Given the description of an element on the screen output the (x, y) to click on. 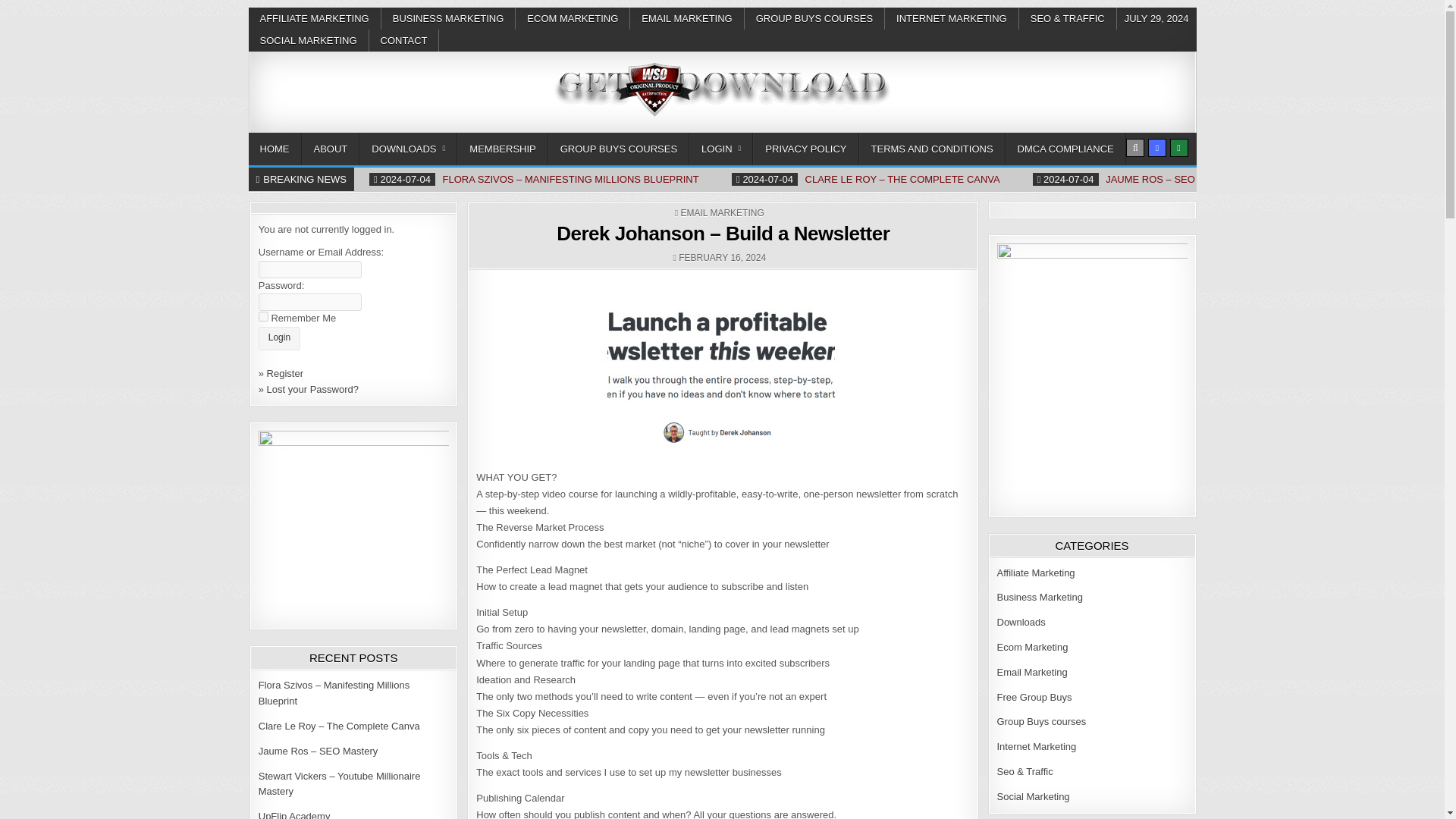
LOGIN (720, 148)
DOWNLOADS (408, 148)
AFFILIATE MARKETING (314, 18)
GROUP BUYS COURSES (618, 148)
INTERNET MARKETING (952, 18)
DMCA COMPLIANCE (1065, 148)
Random Article (1157, 147)
Wso Downloads (327, 126)
HOME (274, 148)
BUSINESS MARKETING (448, 18)
CONTACT (404, 40)
ABOUT (330, 148)
EMAIL MARKETING (720, 213)
PRIVACY POLICY (805, 148)
SOCIAL MARKETING (308, 40)
